Given the description of an element on the screen output the (x, y) to click on. 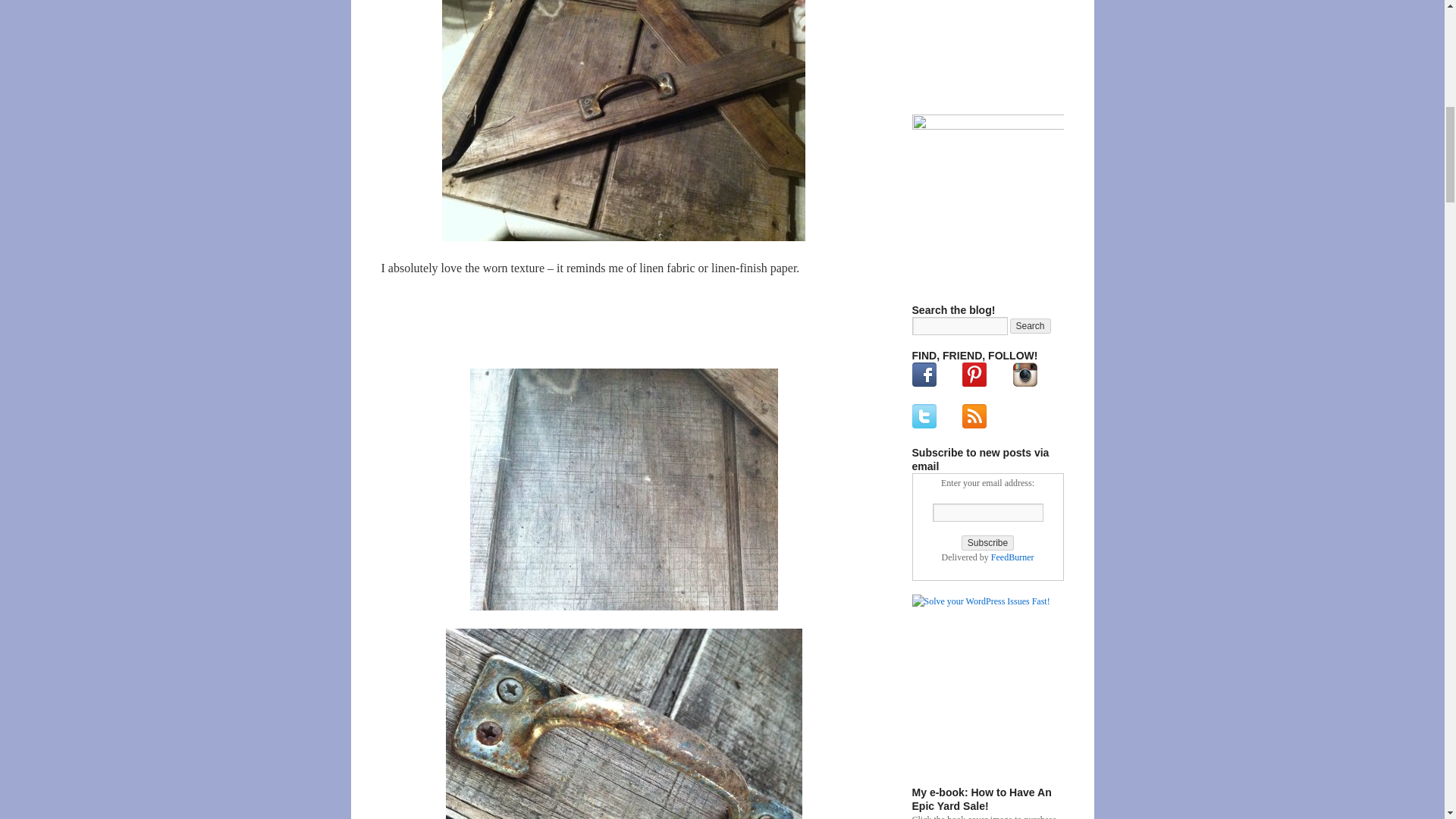
Subscribe to my feed (974, 425)
Follow me on Instagram (1024, 374)
Follow me on Facebook (923, 374)
Follow me on Pinterest (974, 374)
Search (1030, 325)
Follow me on Twitter (923, 416)
Subscribe (986, 542)
